Given the description of an element on the screen output the (x, y) to click on. 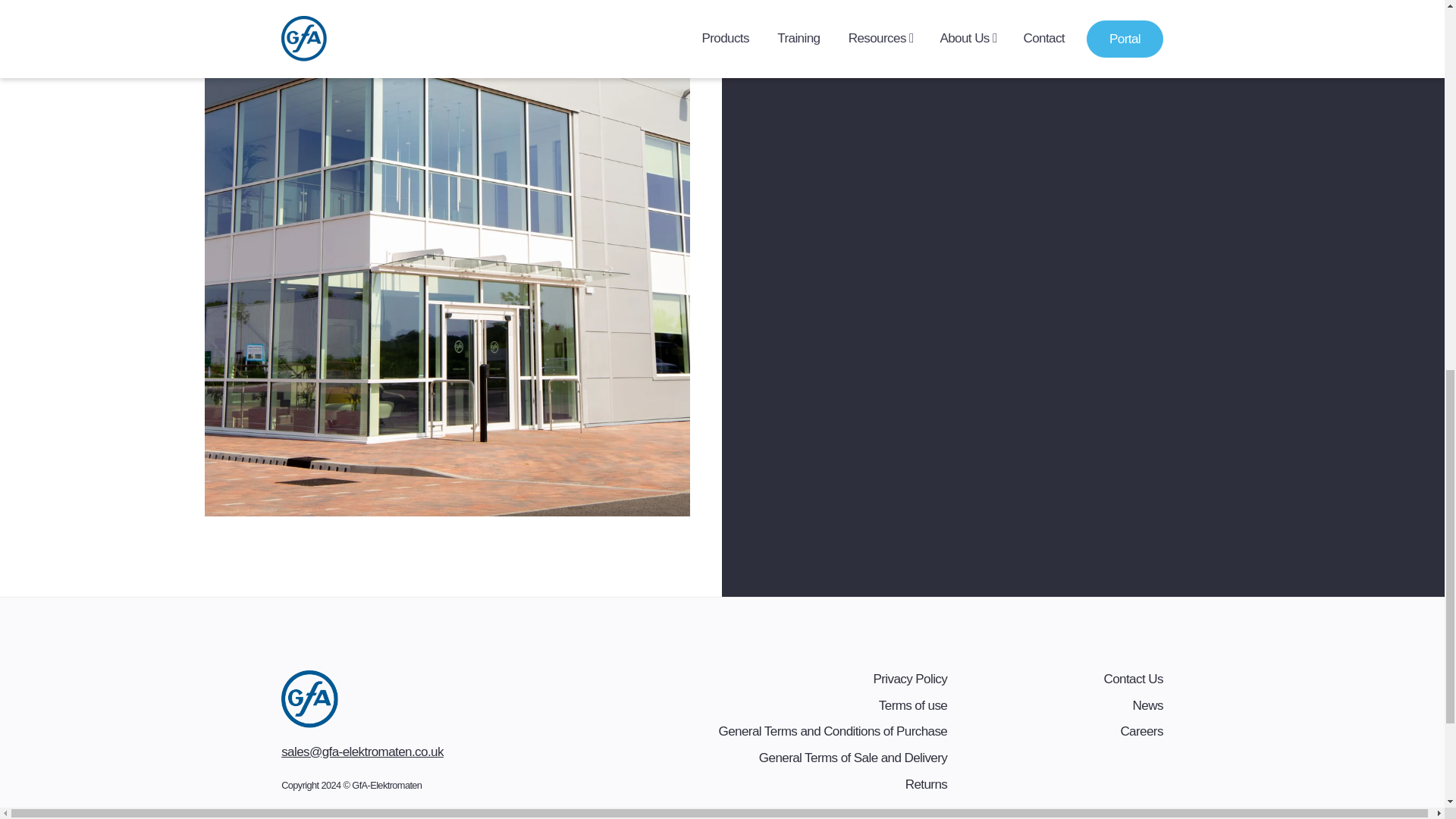
Submit (839, 3)
Submit (839, 3)
Privacy Policy (910, 678)
Careers (1140, 730)
Contact Us (1132, 678)
Returns (926, 784)
General Terms and Conditions of Purchase (833, 730)
News (1147, 705)
Terms of use (913, 705)
General Terms of Sale and Delivery (852, 757)
